Given the description of an element on the screen output the (x, y) to click on. 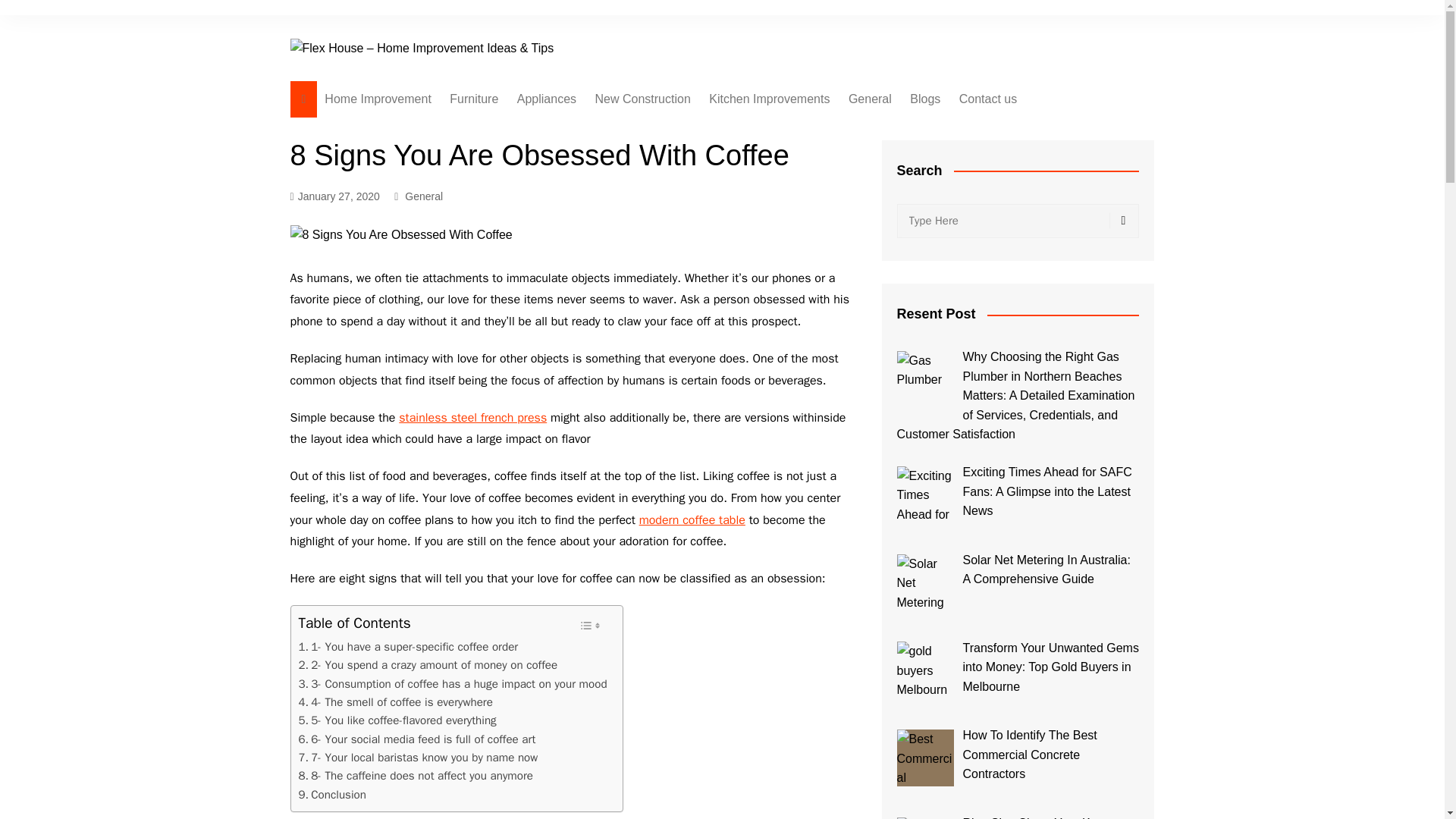
Furniture (473, 99)
Pest Control (924, 129)
Gas Plumber (924, 379)
Blogs (924, 99)
Cleaning Tips and Tools (593, 192)
General (870, 99)
Plumbing (924, 154)
Bath and Shower (593, 167)
Landscaping Outdoor Decorating (671, 161)
2- You spend a crazy amount of money on coffee (427, 665)
6- Your social media feed is full of coffee art (416, 739)
6- Your social media feed is full of coffee art (416, 739)
Real Estate Business (671, 242)
5- You like coffee-flavored everything (397, 720)
Write for US (1035, 129)
